Given the description of an element on the screen output the (x, y) to click on. 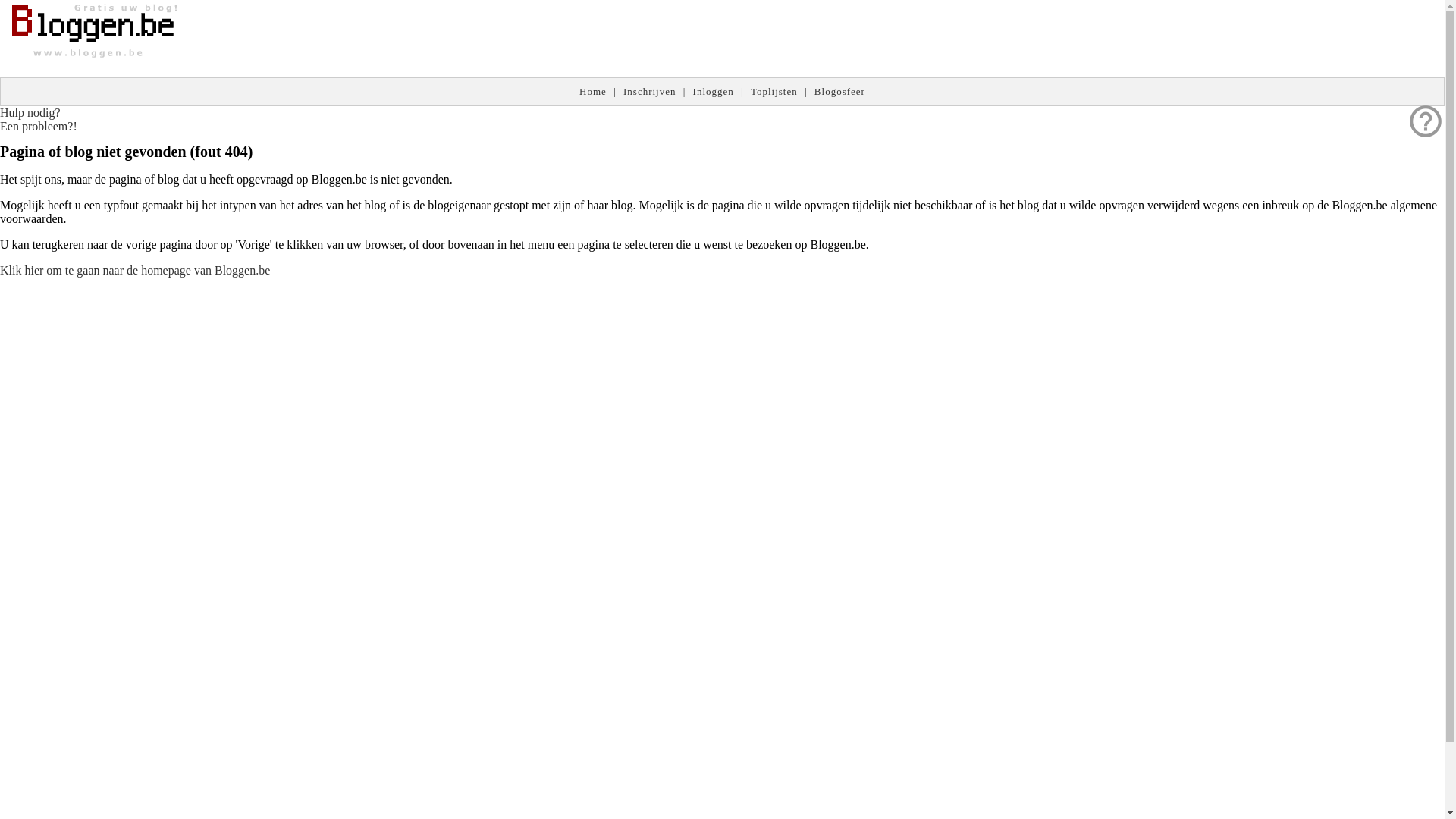
Blogosfeer Element type: text (839, 91)
Klik hier om te gaan naar de homepage van Bloggen.be Element type: text (134, 269)
Home Element type: text (592, 91)
help_outline
Hulp nodig?
Een probleem?! Element type: text (38, 119)
Toplijsten Element type: text (773, 91)
Inloggen Element type: text (713, 91)
Inschrijven Element type: text (649, 91)
